Given the description of an element on the screen output the (x, y) to click on. 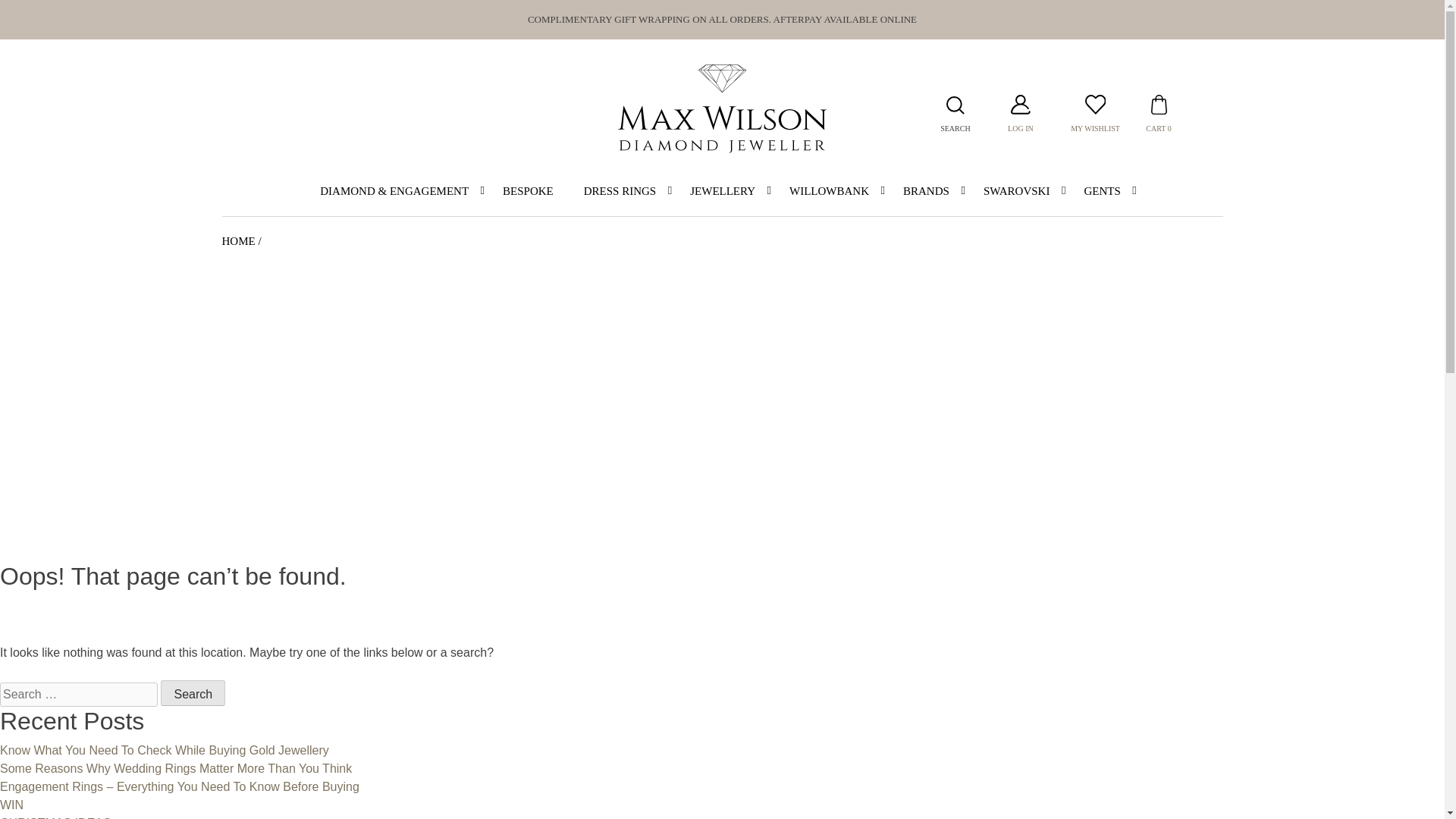
DRESS RINGS (622, 191)
Search (192, 692)
Search (192, 692)
CART 0 (1158, 126)
MY WISHLIST (1096, 126)
BESPOKE (528, 191)
LOG IN (1020, 128)
